Given the description of an element on the screen output the (x, y) to click on. 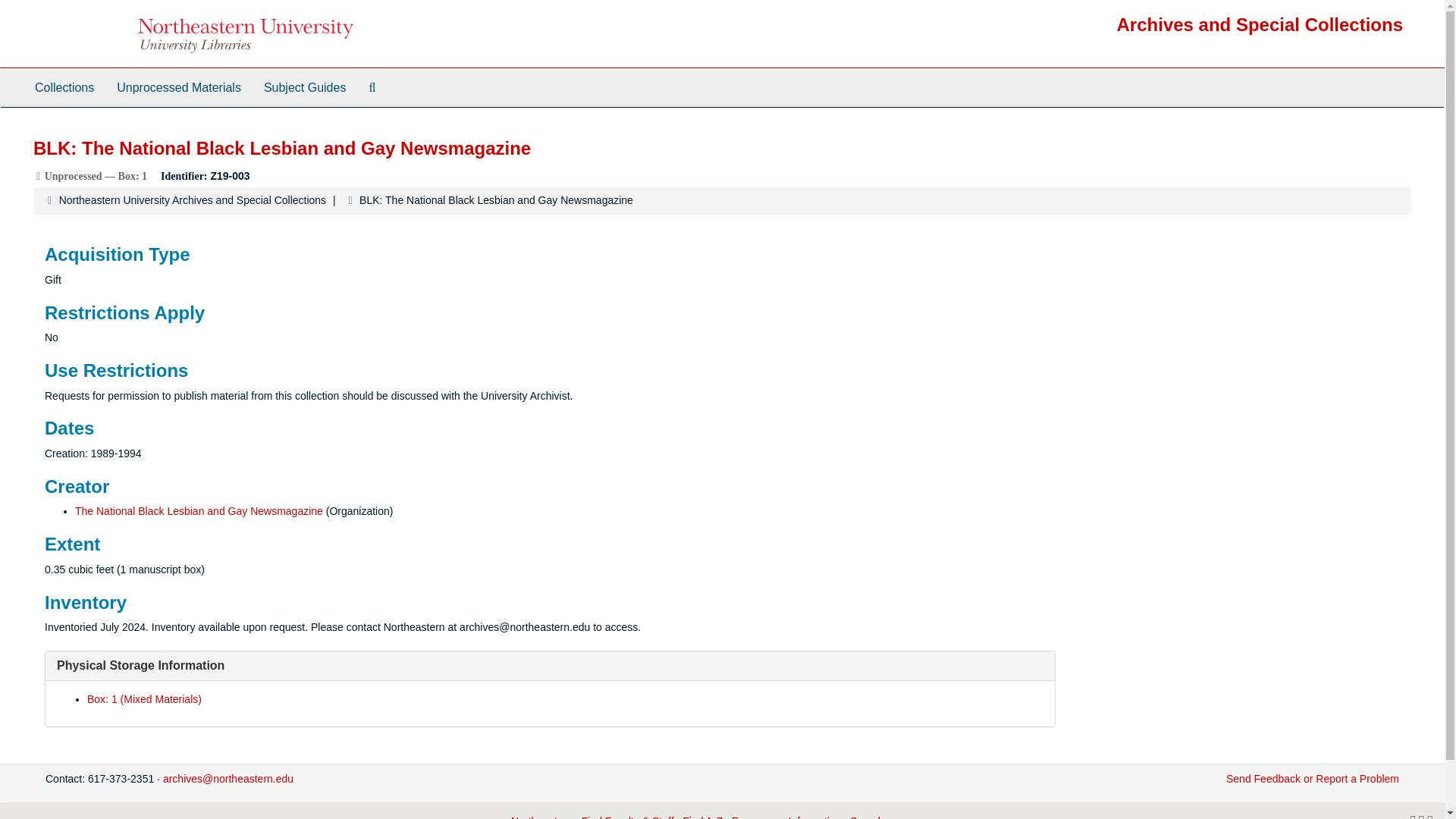
Page Actions (1130, 130)
Return to the Archives homepage (1259, 24)
Subject Guides (304, 87)
Collections (63, 87)
The National Black Lesbian and Gay Newsmagazine (199, 510)
Unprocessed Materials (177, 87)
Physical Storage Information (140, 665)
Send Feedback or Report a Problem (1312, 778)
Find A-Z (702, 816)
Archives and Special Collections (1259, 24)
